Given the description of an element on the screen output the (x, y) to click on. 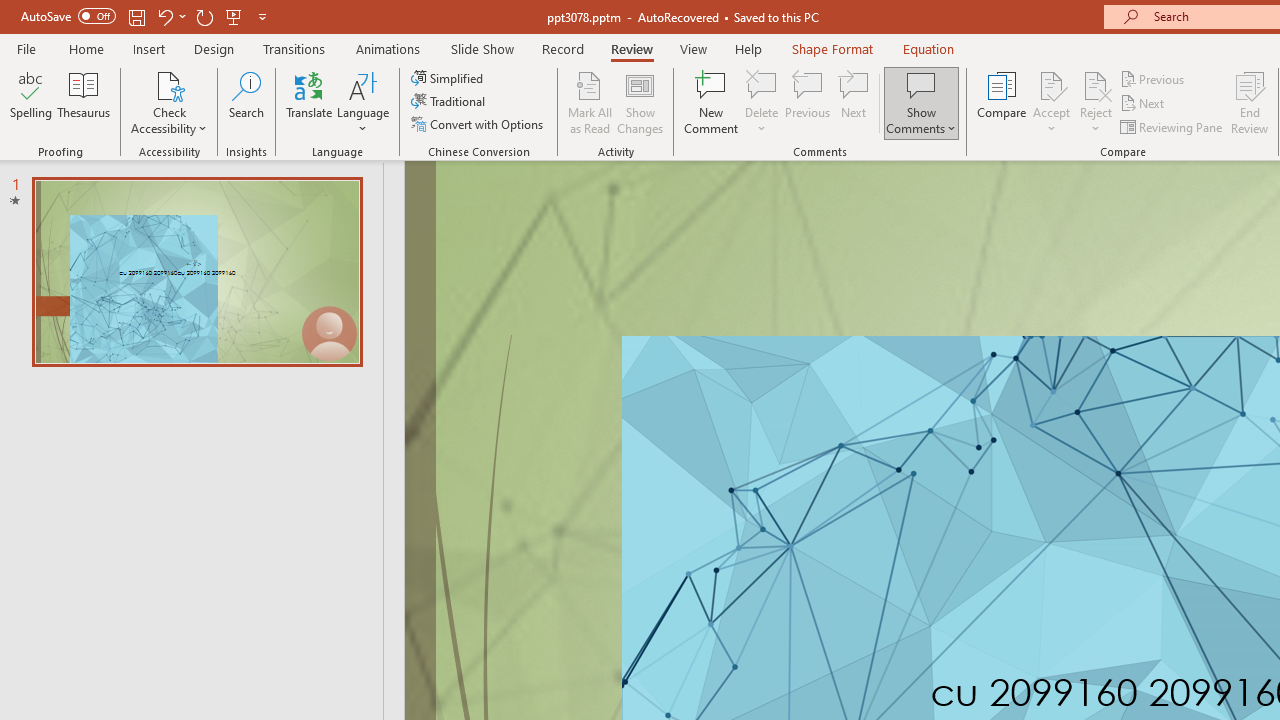
Mark All as Read (589, 102)
Translate (309, 102)
New Comment (711, 102)
Reject Change (1096, 84)
